Given the description of an element on the screen output the (x, y) to click on. 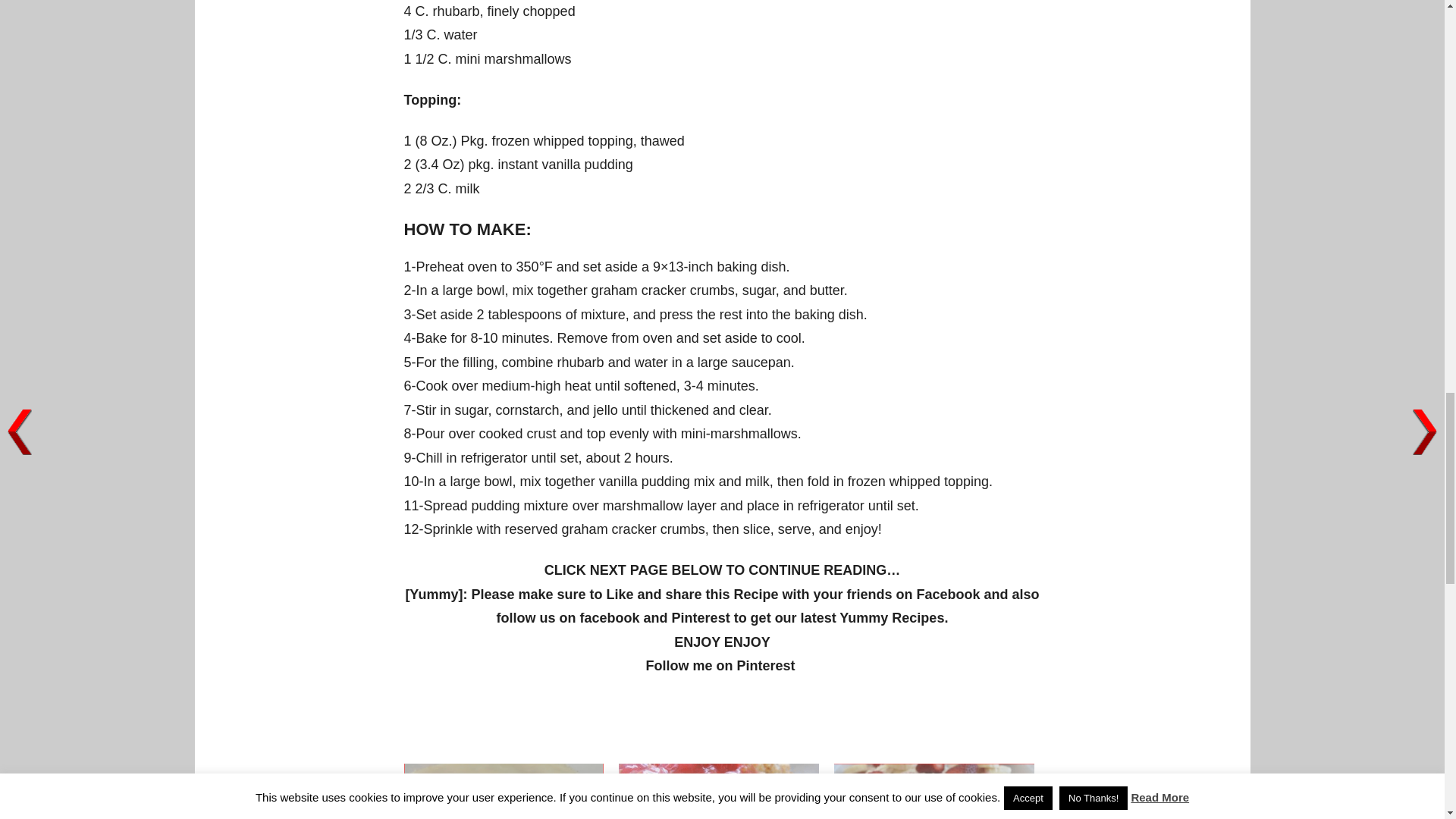
Rhubarb Cream Cheese Bars (503, 791)
Strawberry-Banana Cheesecake Salad (933, 791)
Rhubarb Dump Cake (718, 791)
